Given the description of an element on the screen output the (x, y) to click on. 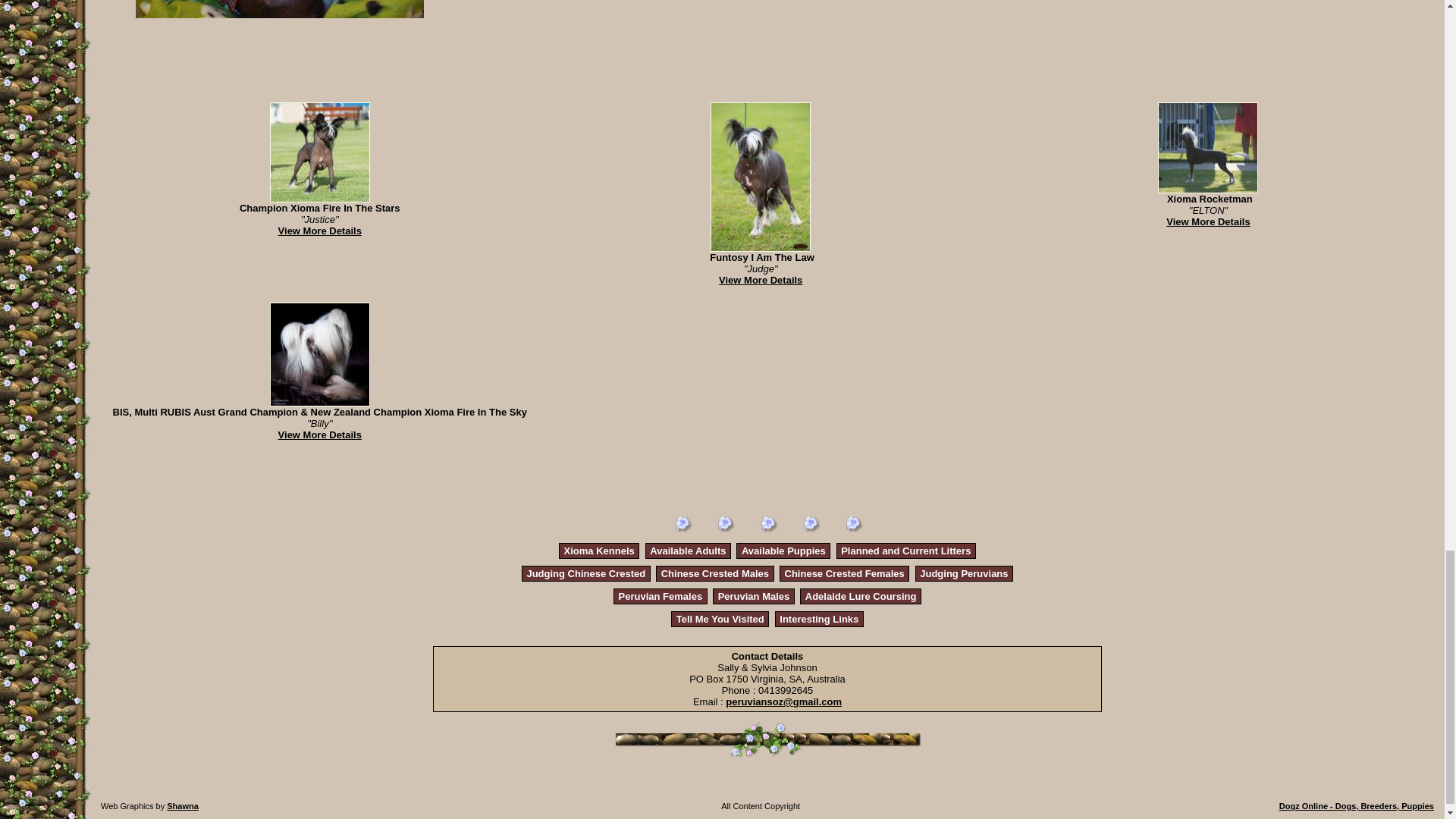
Chinese Crested Females (844, 573)
Chinese Crested Males (714, 573)
Tell Me You Visited (720, 618)
Peruvian Males (753, 595)
View More Details (319, 230)
Interesting Links (818, 618)
Peruvian Females (660, 595)
Adelaide Lure Coursing (861, 595)
View More Details (319, 434)
Judging Chinese Crested (585, 573)
View More Details (1207, 221)
Xioma Kennels (599, 550)
Shawna (182, 805)
Available Adults (687, 550)
Judging Peruvians (963, 573)
